Given the description of an element on the screen output the (x, y) to click on. 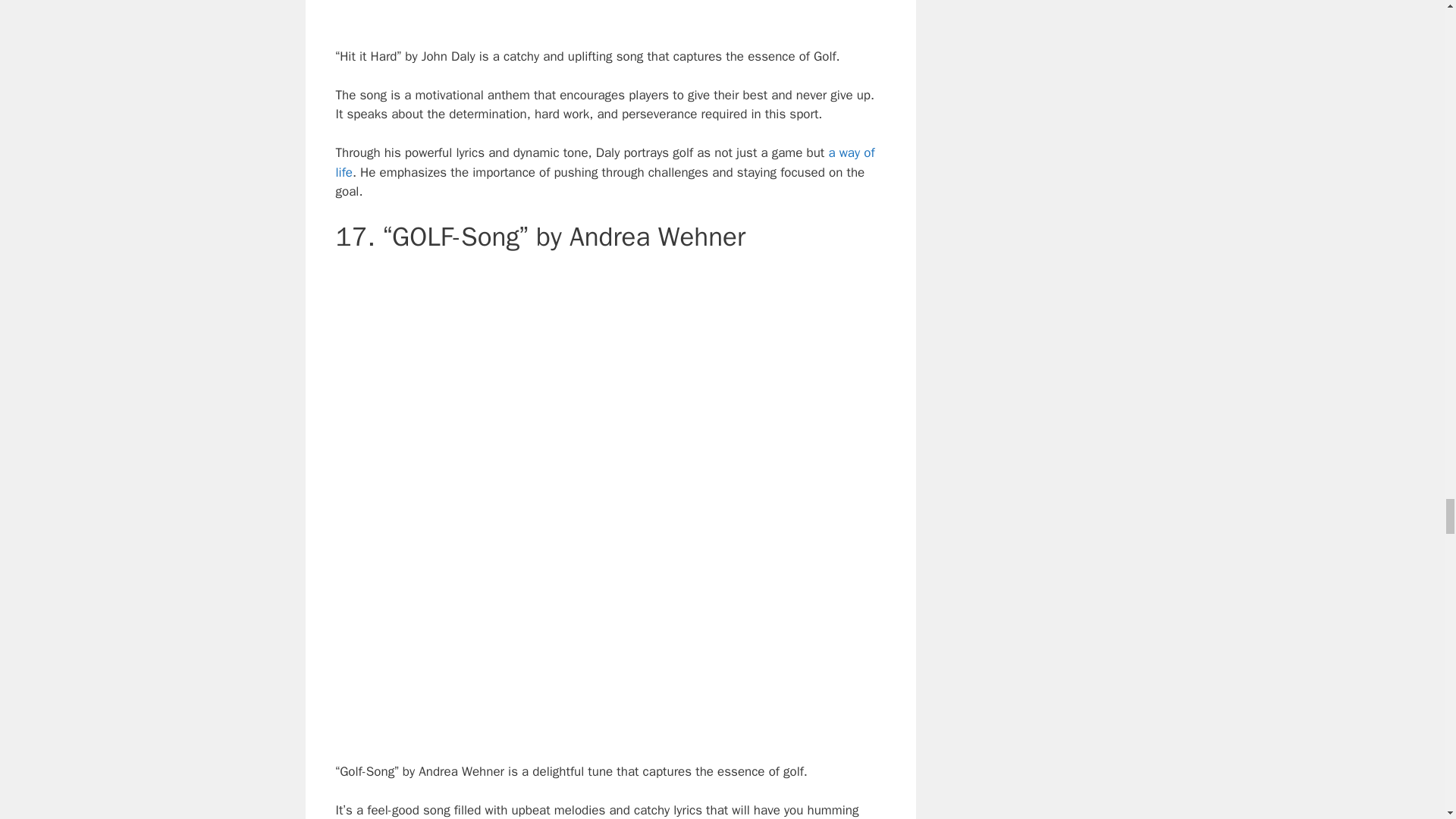
Hit It Hard (609, 11)
